Given the description of an element on the screen output the (x, y) to click on. 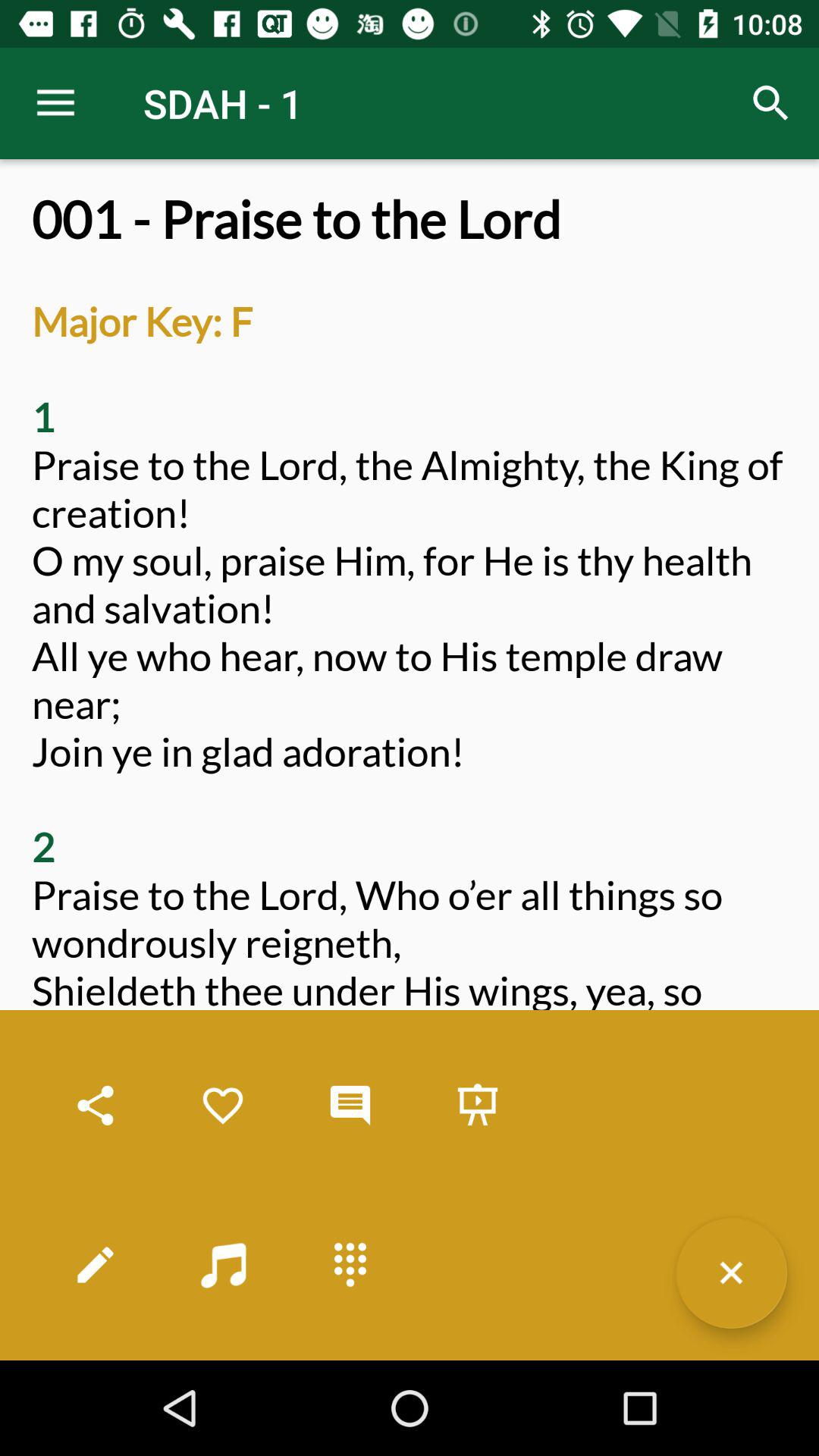
leave a comment (350, 1105)
